Given the description of an element on the screen output the (x, y) to click on. 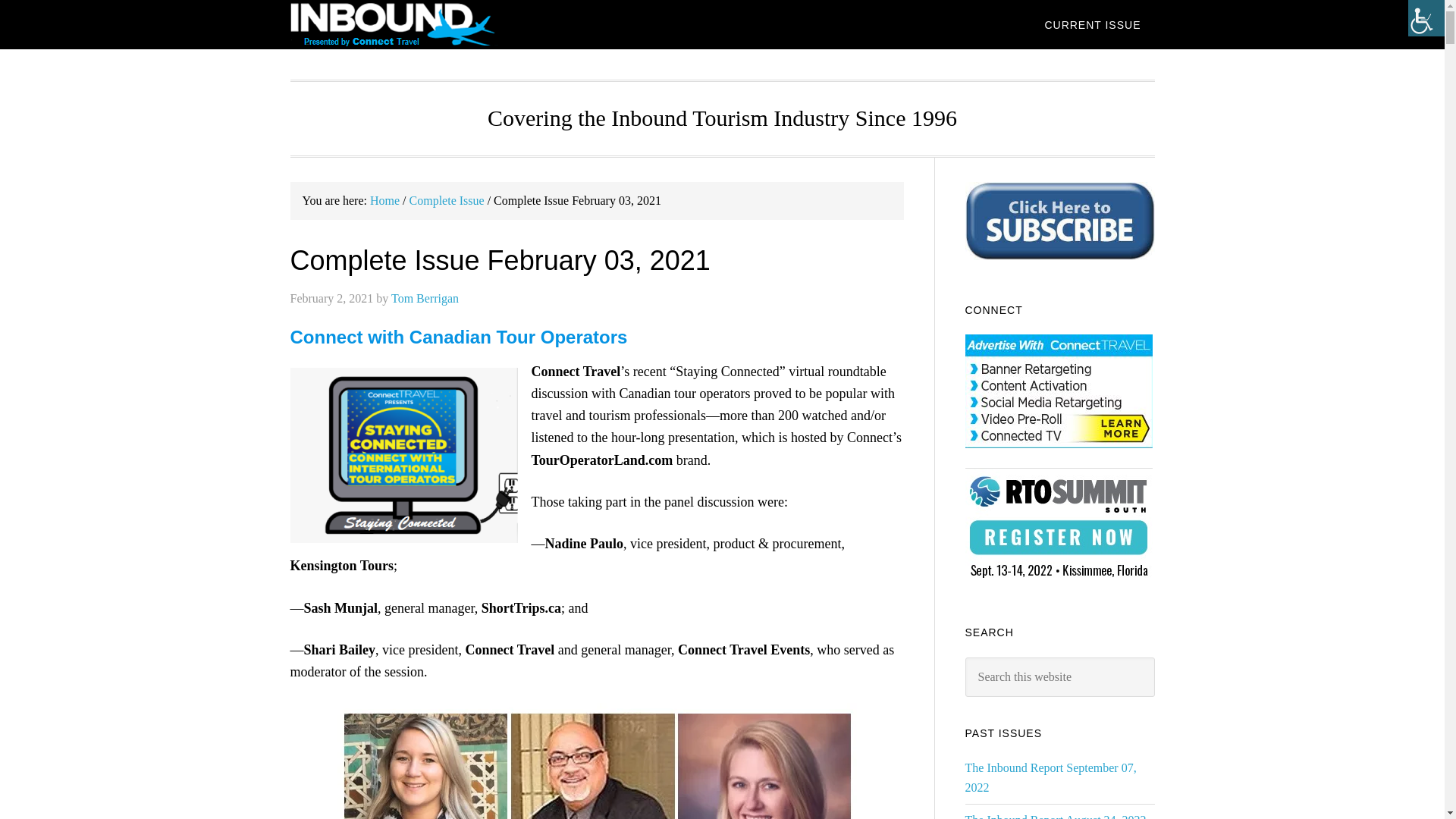
Home (383, 200)
CURRENT ISSUE (1092, 24)
Tom Berrigan (424, 297)
Complete Issue (446, 200)
THE INBOUND REPORT (410, 24)
